Given the description of an element on the screen output the (x, y) to click on. 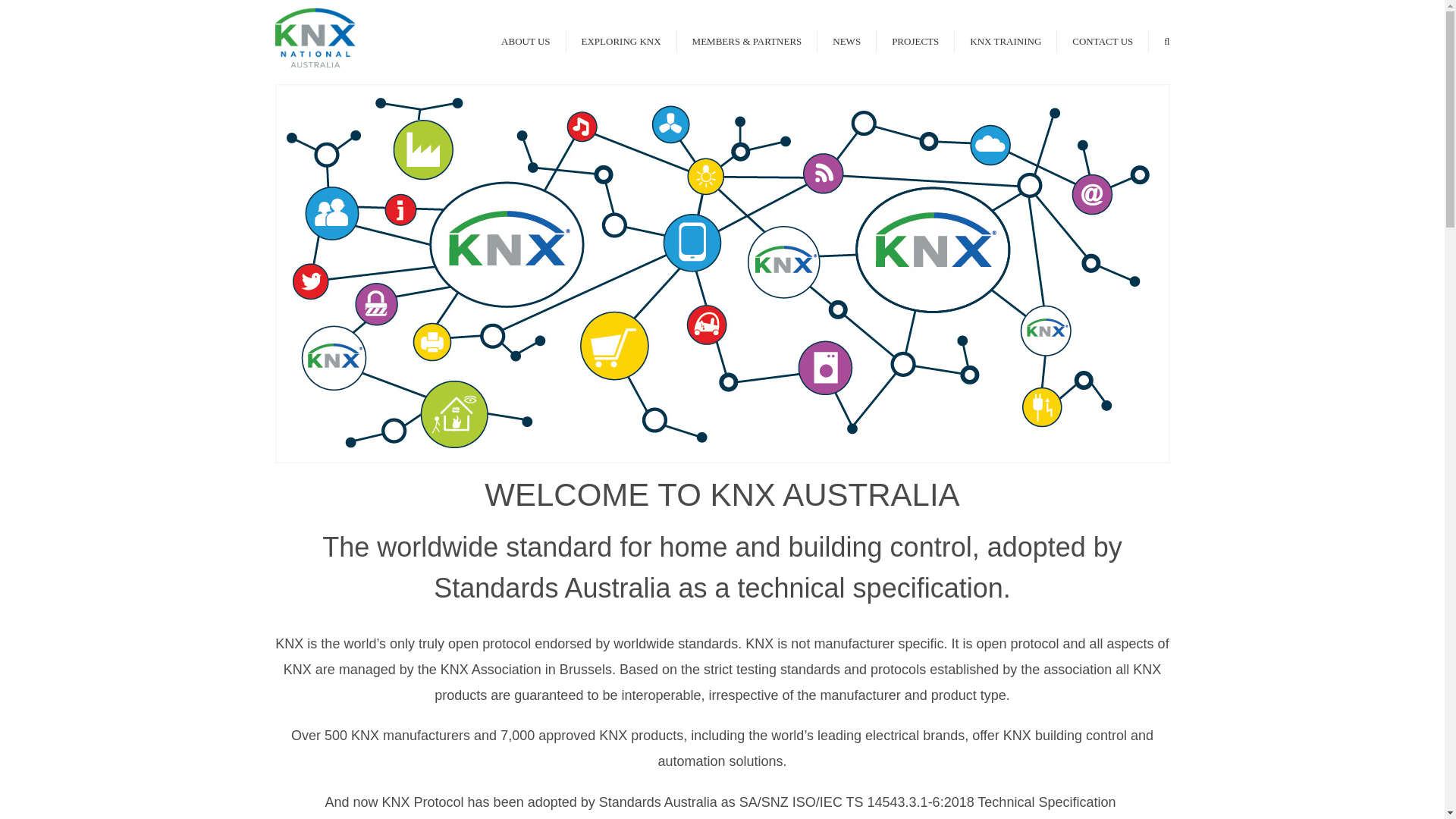
PROJECTS (915, 41)
KNX TRAINING (1005, 41)
NEWS (846, 41)
ABOUT US (525, 41)
CONTACT US (1101, 41)
Search (1166, 41)
EXPLORING KNX (620, 41)
